Given the description of an element on the screen output the (x, y) to click on. 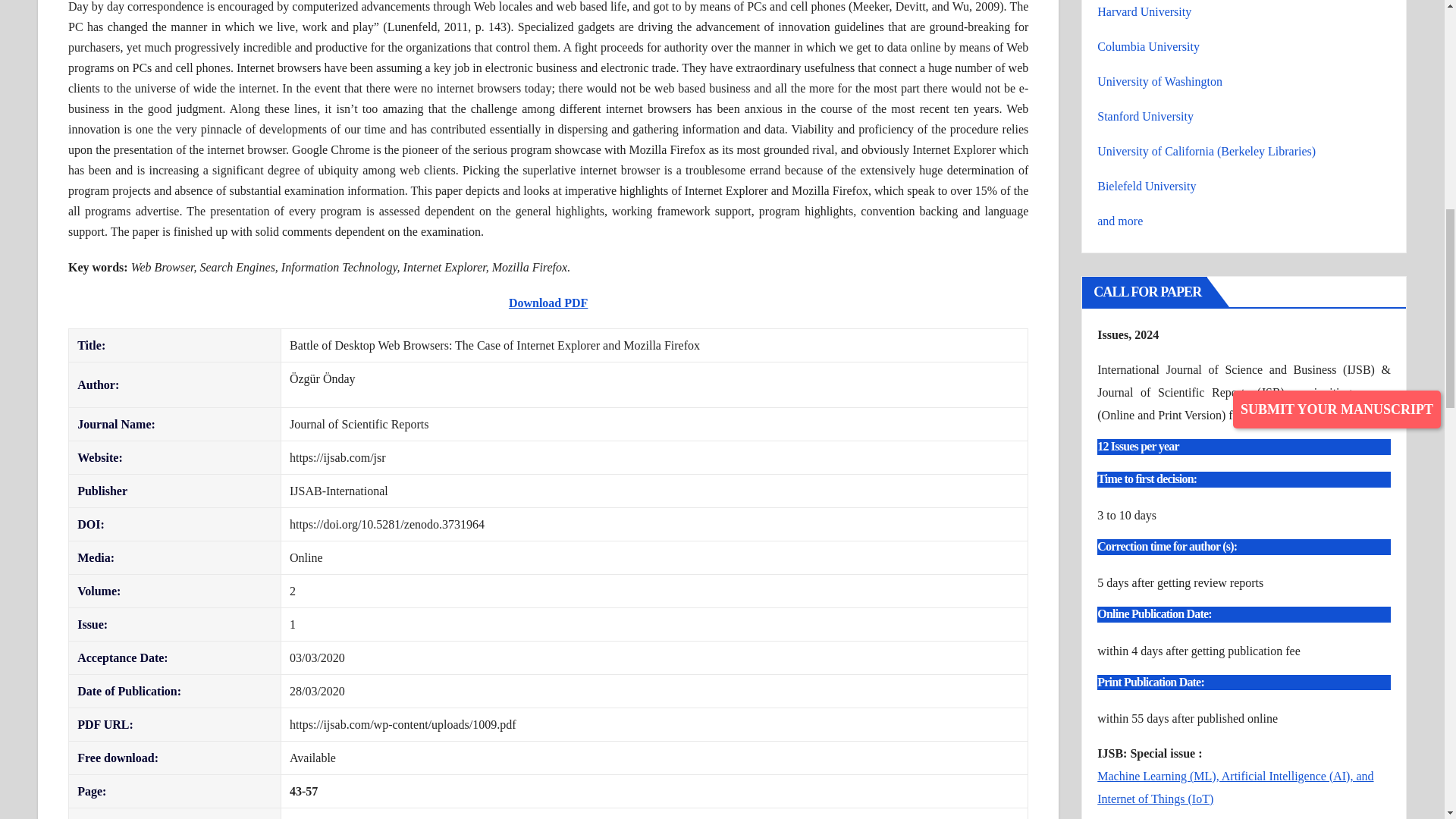
Download PDF (548, 302)
